Given the description of an element on the screen output the (x, y) to click on. 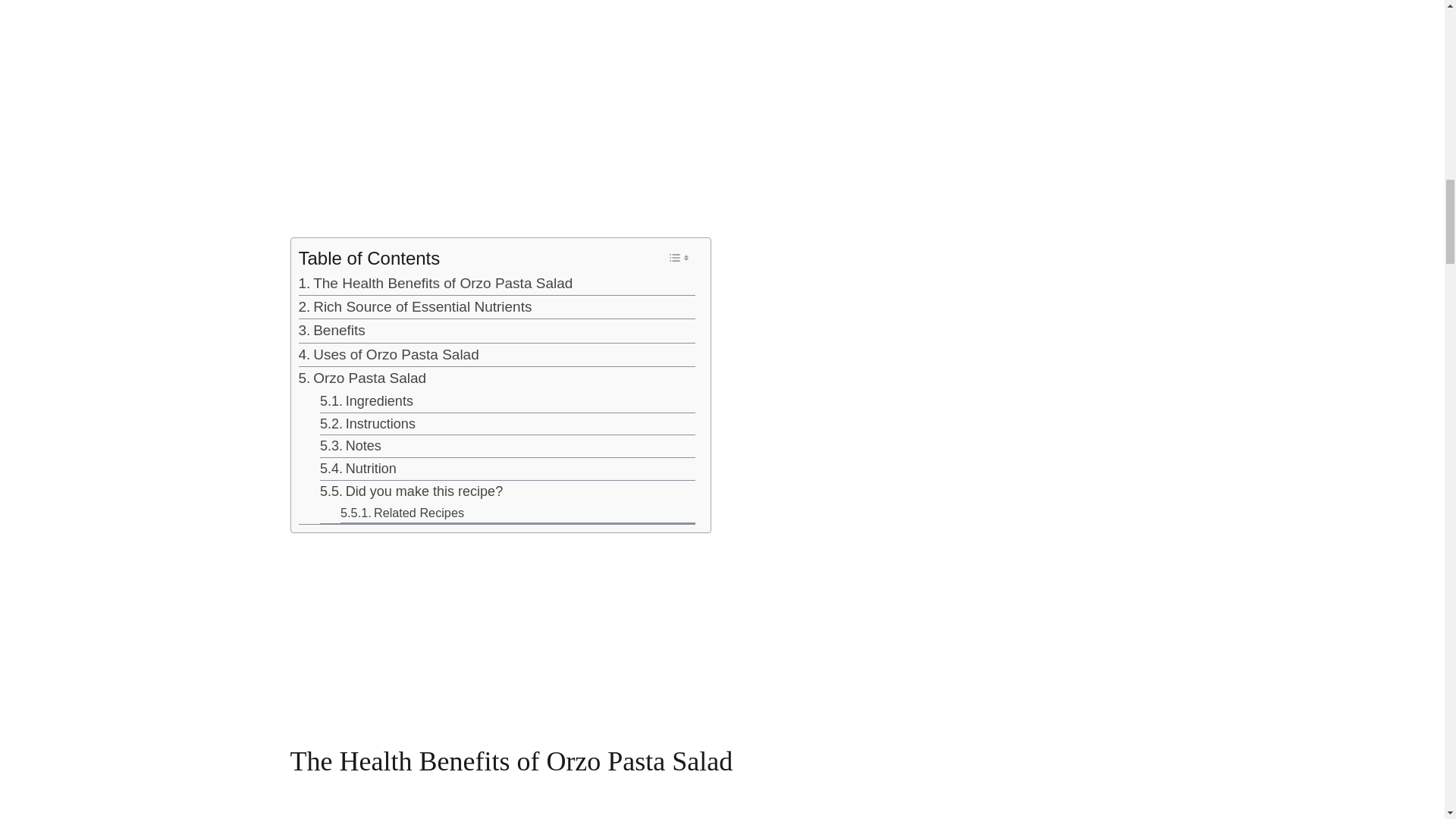
Notes (350, 445)
Rich Source of Essential Nutrients (415, 306)
Benefits (331, 330)
Did you make this recipe? (411, 491)
Related Recipes (402, 512)
Uses of Orzo Pasta Salad (388, 354)
Nutrition (358, 468)
Instructions (367, 423)
Ingredients (366, 401)
Related Recipes (402, 512)
